Given the description of an element on the screen output the (x, y) to click on. 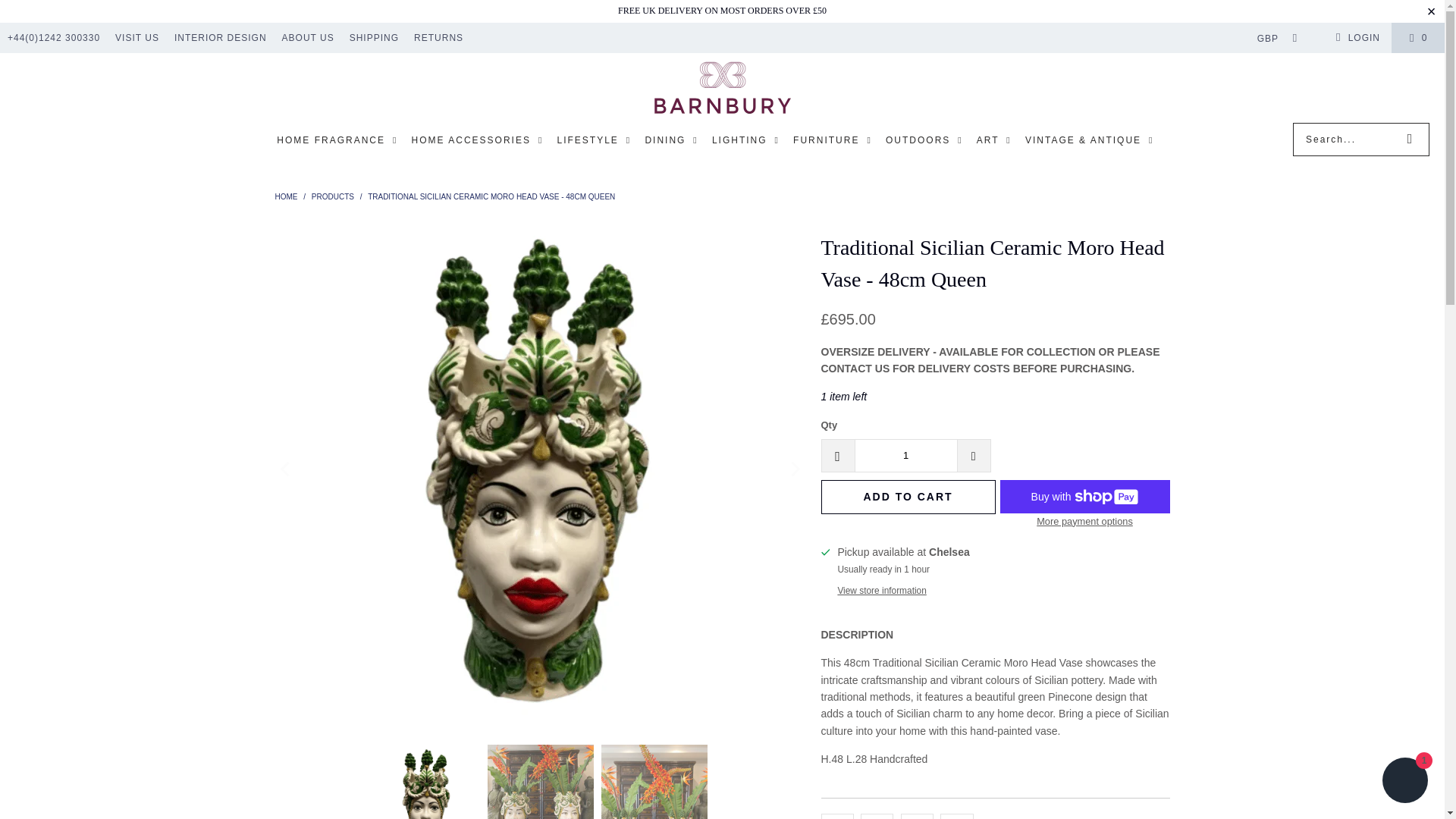
Share this on Pinterest (917, 816)
Customer reviews powered by Trustpilot (995, 788)
Email this to a friend (956, 816)
BARNBURY (722, 91)
Share this on Facebook (876, 816)
Products (333, 196)
1 (904, 455)
BARNBURY (287, 196)
My Account  (1355, 37)
Share this on Twitter (837, 816)
